Given the description of an element on the screen output the (x, y) to click on. 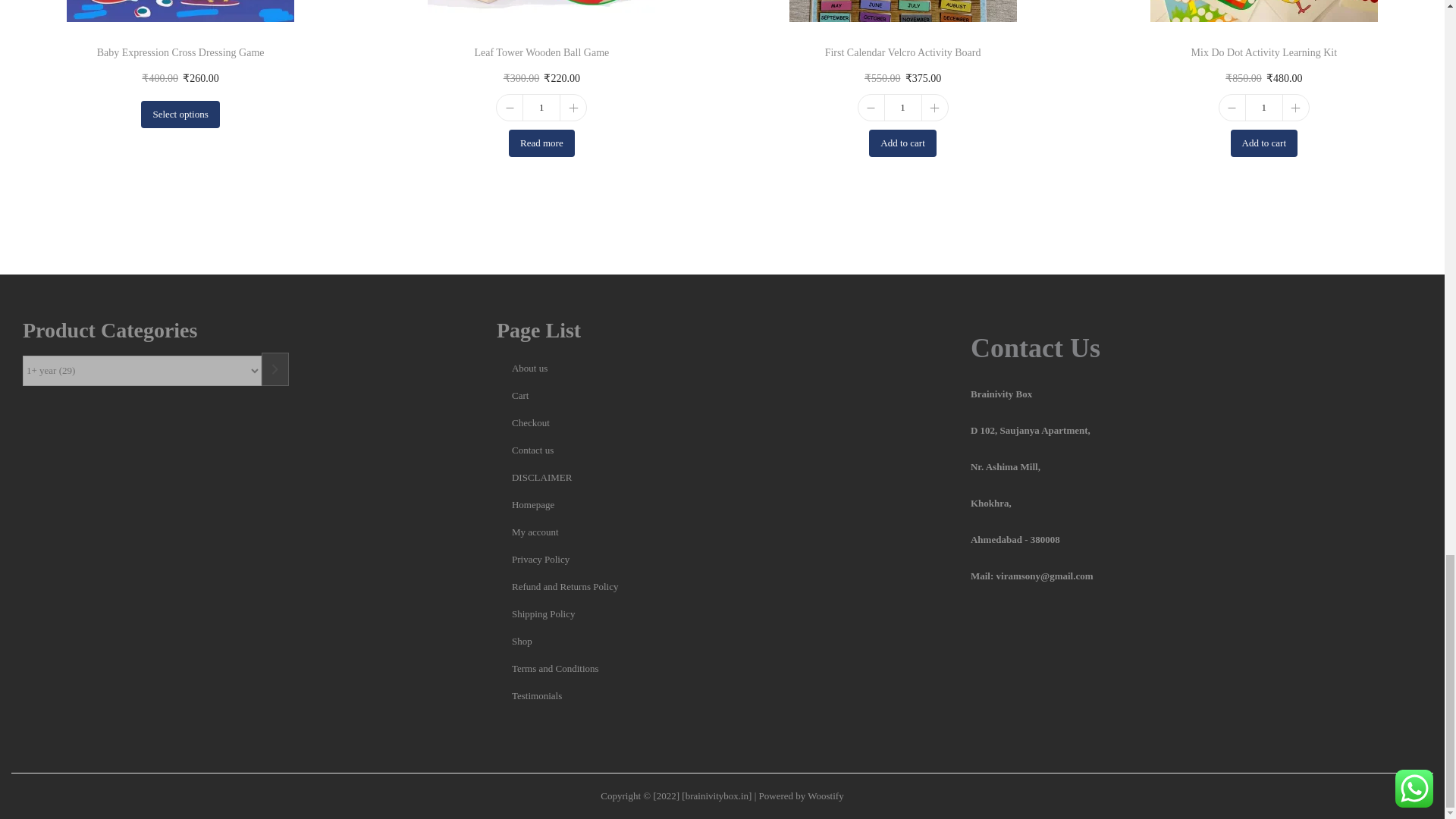
1 (903, 107)
1 (541, 107)
1 (1264, 107)
